Given the description of an element on the screen output the (x, y) to click on. 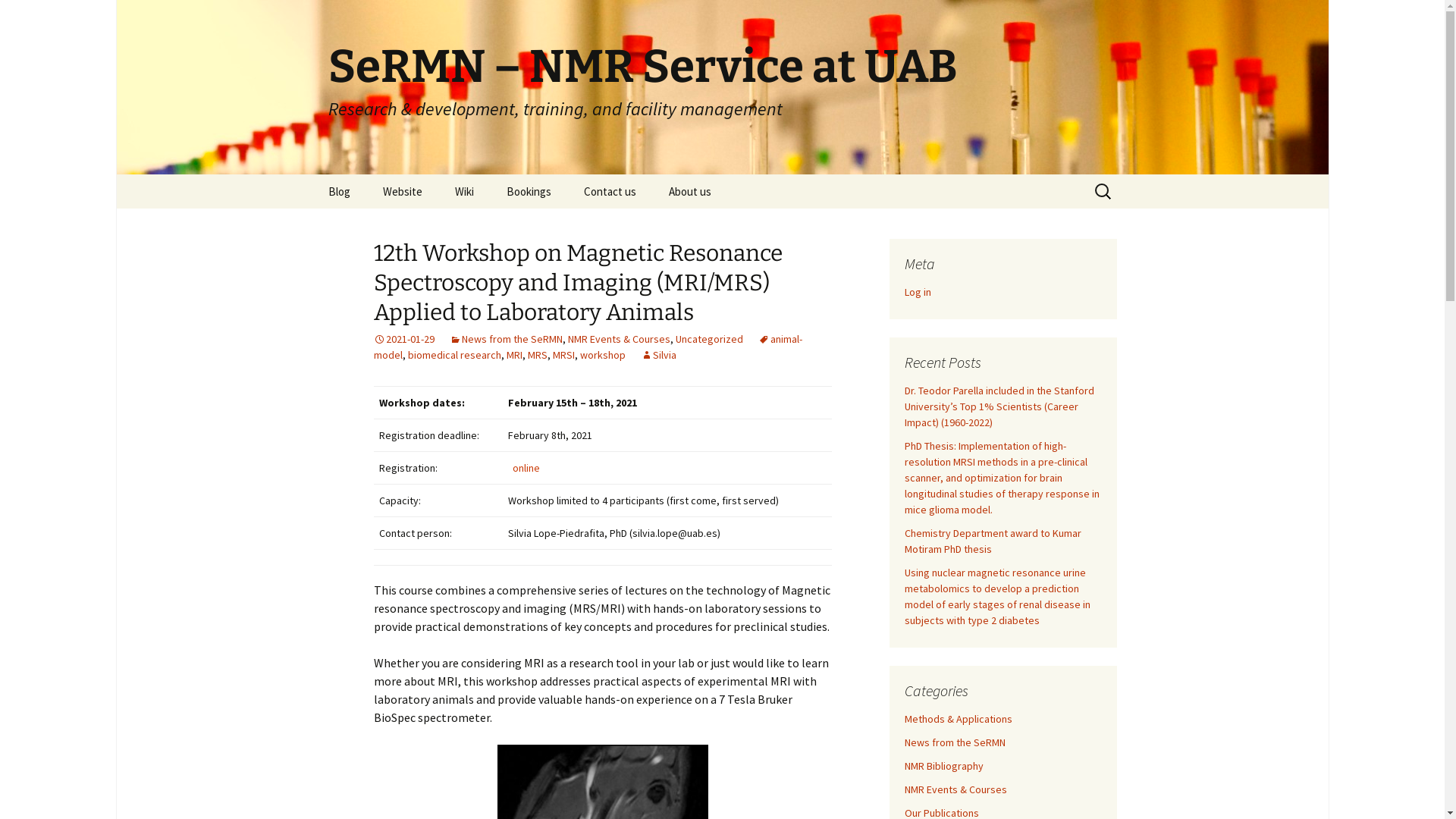
MRS Element type: text (537, 354)
Skip to content Element type: text (312, 173)
biomedical research Element type: text (454, 354)
About SeRMN Element type: text (729, 225)
Bookings Element type: text (528, 191)
Contact us Element type: text (609, 191)
Search Element type: text (18, 16)
Wiki Element type: text (464, 191)
MRI Element type: text (514, 354)
Silvia Element type: text (657, 354)
Blog Element type: text (338, 191)
NMR Events & Courses Element type: text (954, 789)
2021-01-29 Element type: text (403, 338)
online Element type: text (525, 467)
News from the SeRMN Element type: text (953, 742)
workshop Element type: text (601, 354)
News from the SeRMN Element type: text (504, 338)
About us Element type: text (689, 191)
Instrument booking Element type: text (567, 225)
Methods & Applications Element type: text (957, 718)
Chemistry Department award to Kumar Motiram PhD thesis Element type: text (991, 540)
NMR Bibliography Element type: text (942, 765)
Contact form Element type: text (644, 225)
Uncategorized Element type: text (708, 338)
Log in Element type: text (916, 291)
MRSI Element type: text (563, 354)
Website Element type: text (401, 191)
NMR Events & Courses Element type: text (618, 338)
animal-model Element type: text (587, 346)
